Given the description of an element on the screen output the (x, y) to click on. 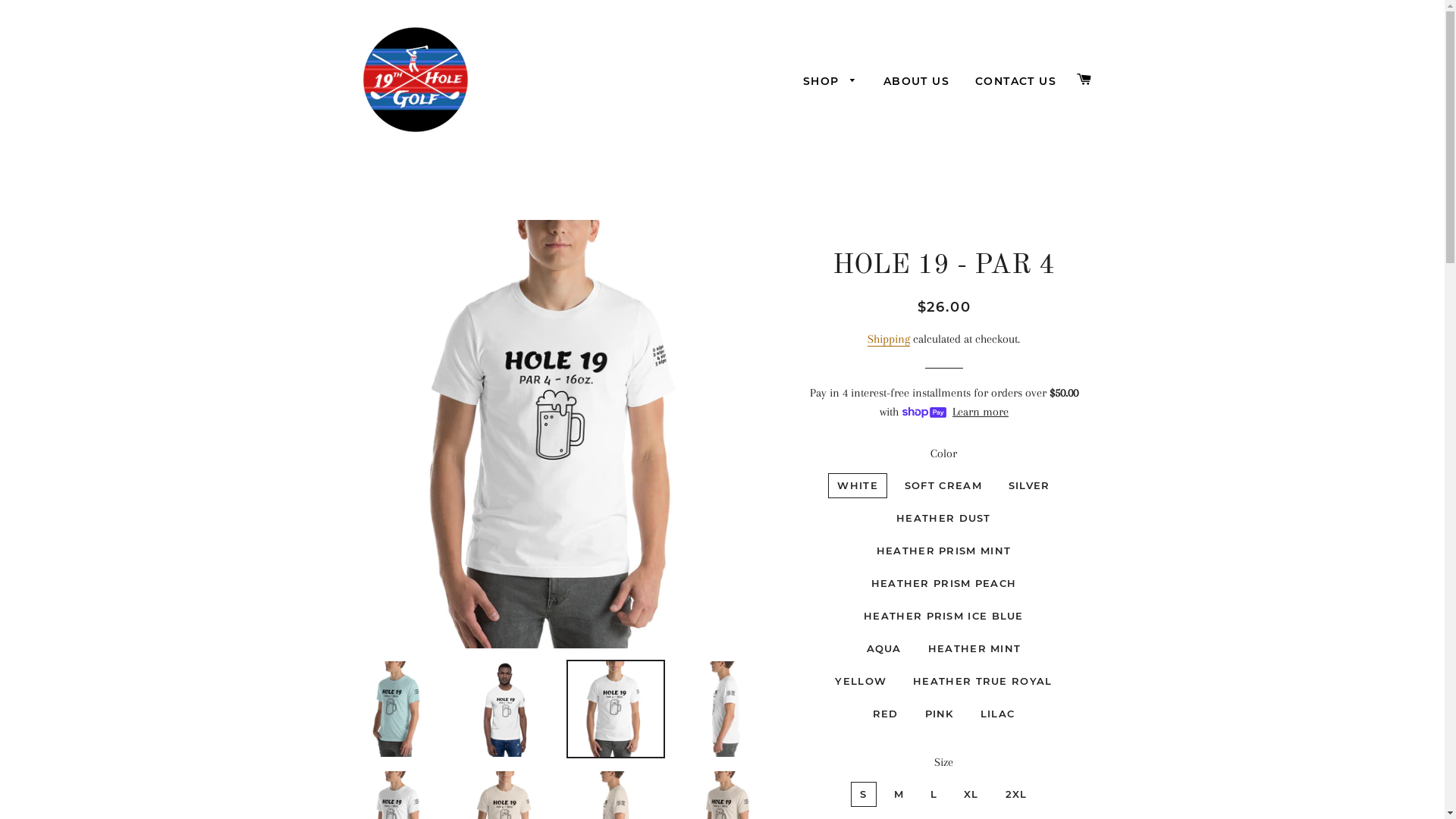
Shipping Element type: text (888, 339)
ABOUT US Element type: text (916, 81)
SHOP Element type: text (830, 81)
CONTACT US Element type: text (1015, 81)
CART Element type: text (1083, 79)
